Given the description of an element on the screen output the (x, y) to click on. 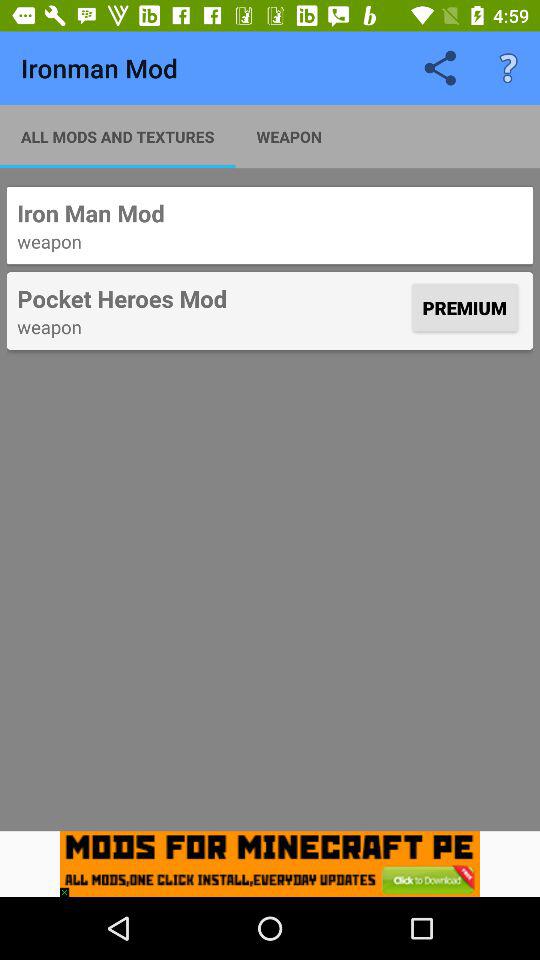
flip to the iron man mod icon (269, 213)
